Given the description of an element on the screen output the (x, y) to click on. 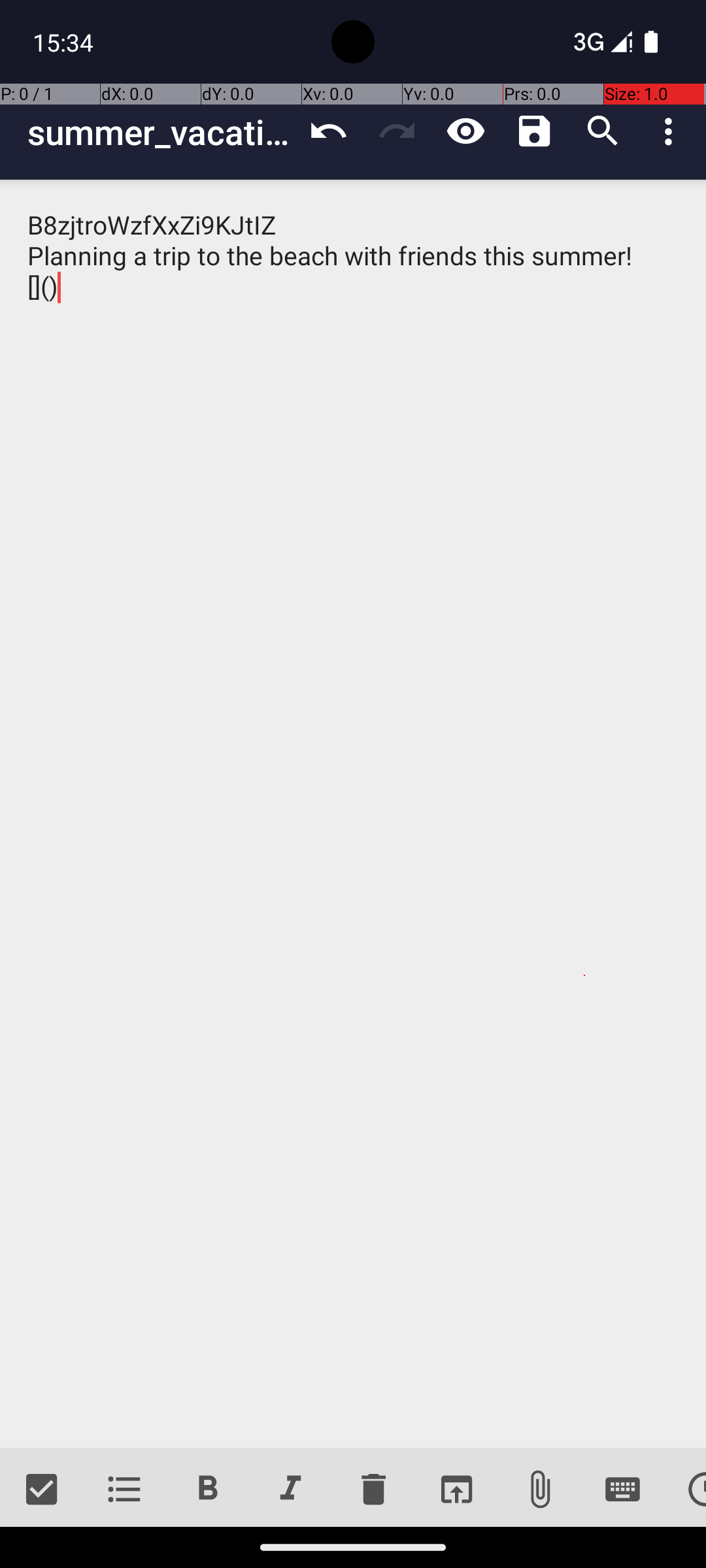
summer_vacation_plans_HRXn Element type: android.widget.TextView (160, 131)
B8zjtroWzfXxZi9KJtIZ
Planning a trip to the beach with friends this summer!
[]() Element type: android.widget.EditText (353, 813)
